Given the description of an element on the screen output the (x, y) to click on. 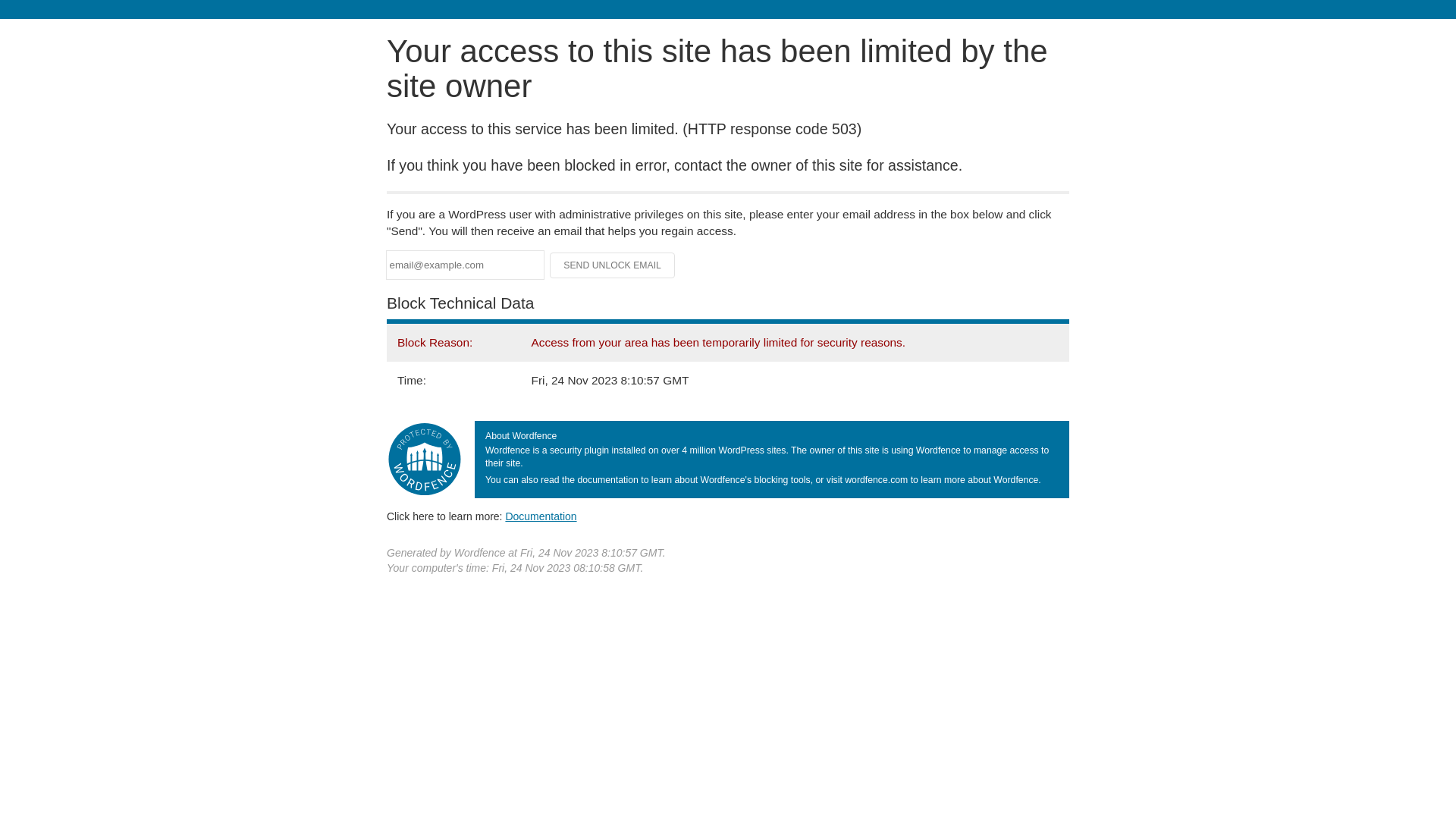
Send Unlock Email Element type: text (612, 265)
Documentation Element type: text (540, 516)
